Given the description of an element on the screen output the (x, y) to click on. 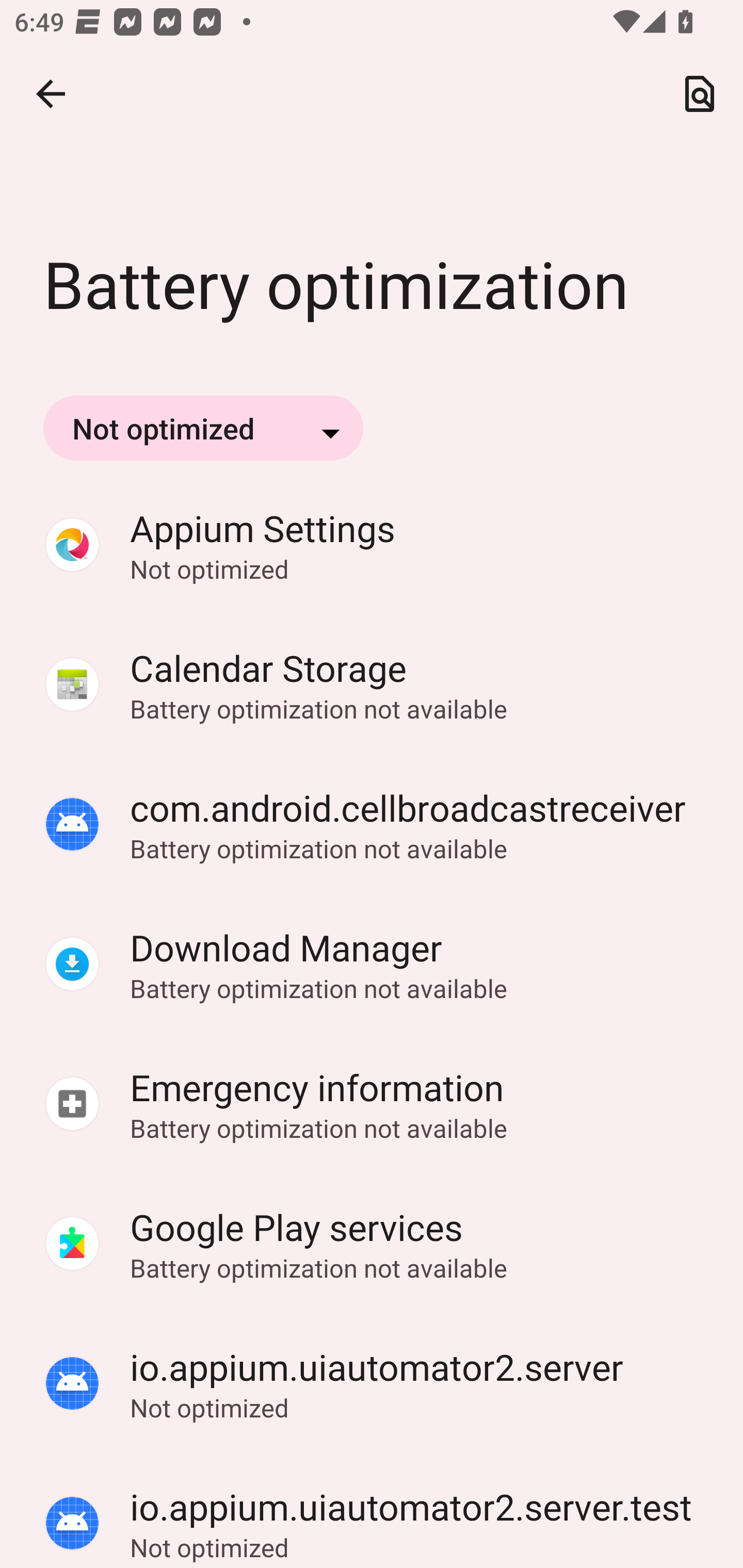
Navigate up (50, 93)
Search (699, 93)
Not optimized (203, 428)
Appium Settings Appium Settings Not optimized (371, 544)
